Given the description of an element on the screen output the (x, y) to click on. 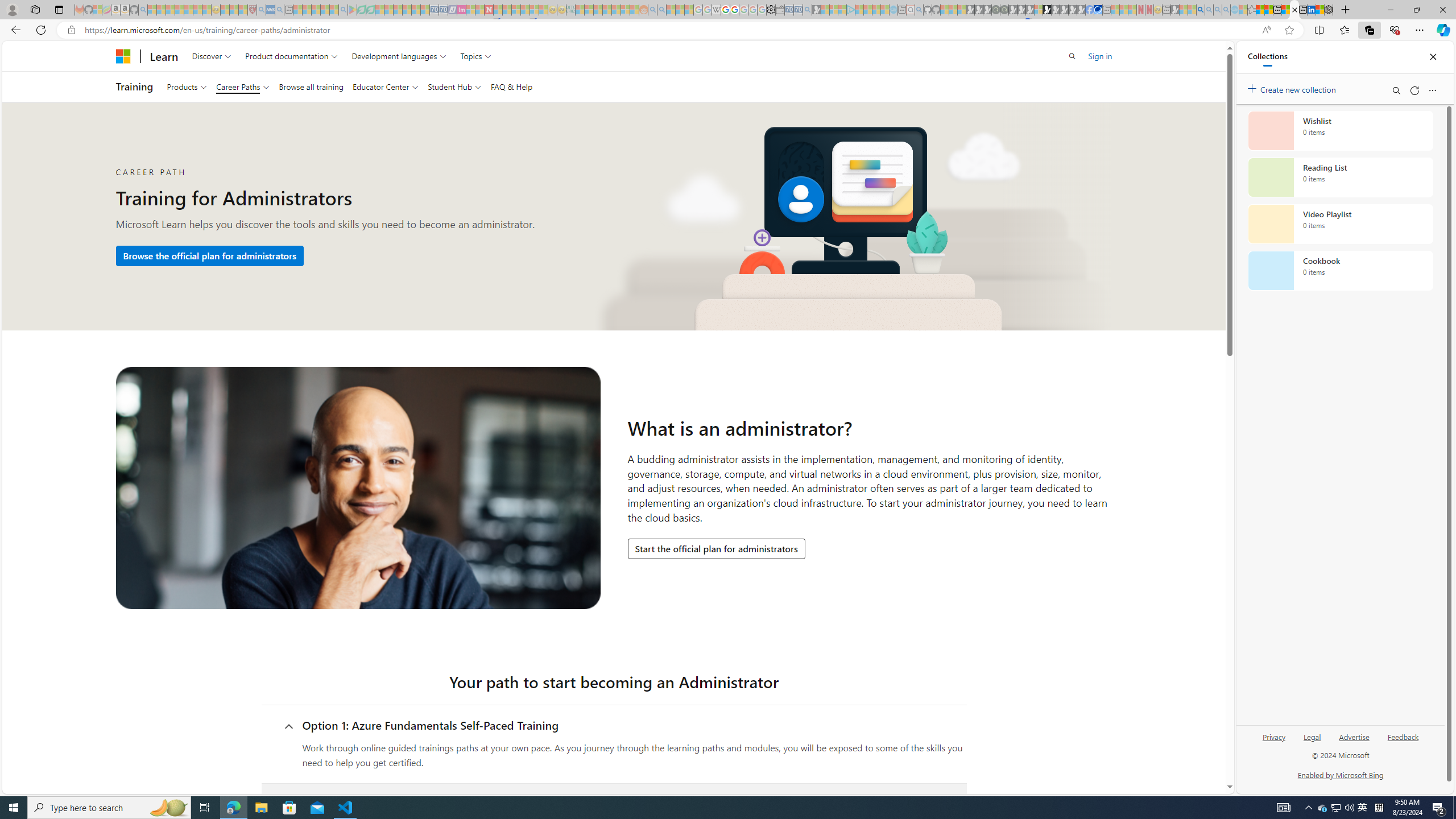
Student Hub (454, 86)
Student Hub (454, 86)
Future Focus Report 2024 - Sleeping (1004, 9)
